Given the description of an element on the screen output the (x, y) to click on. 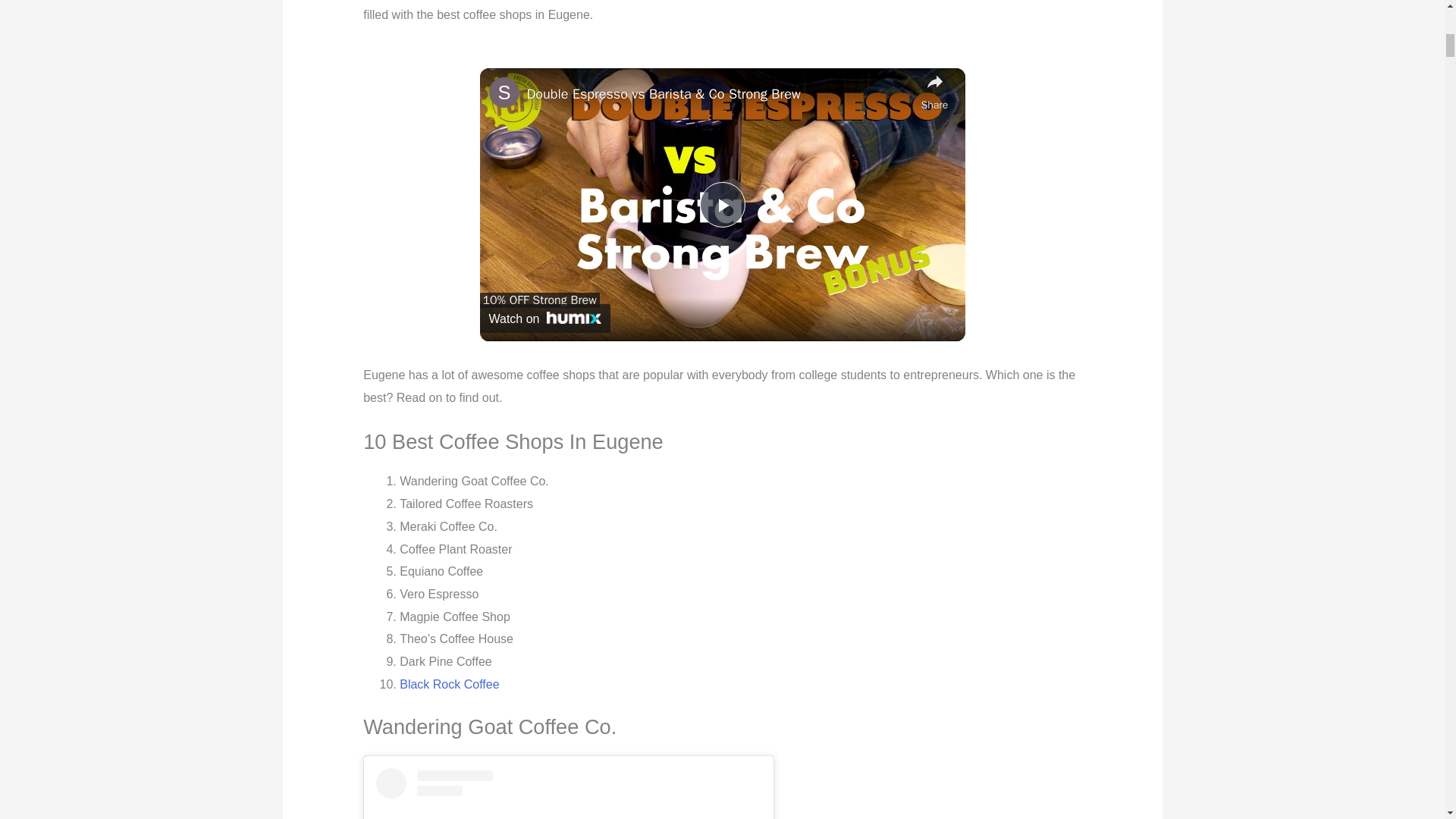
Play Video (721, 204)
Play Video (721, 204)
